Given the description of an element on the screen output the (x, y) to click on. 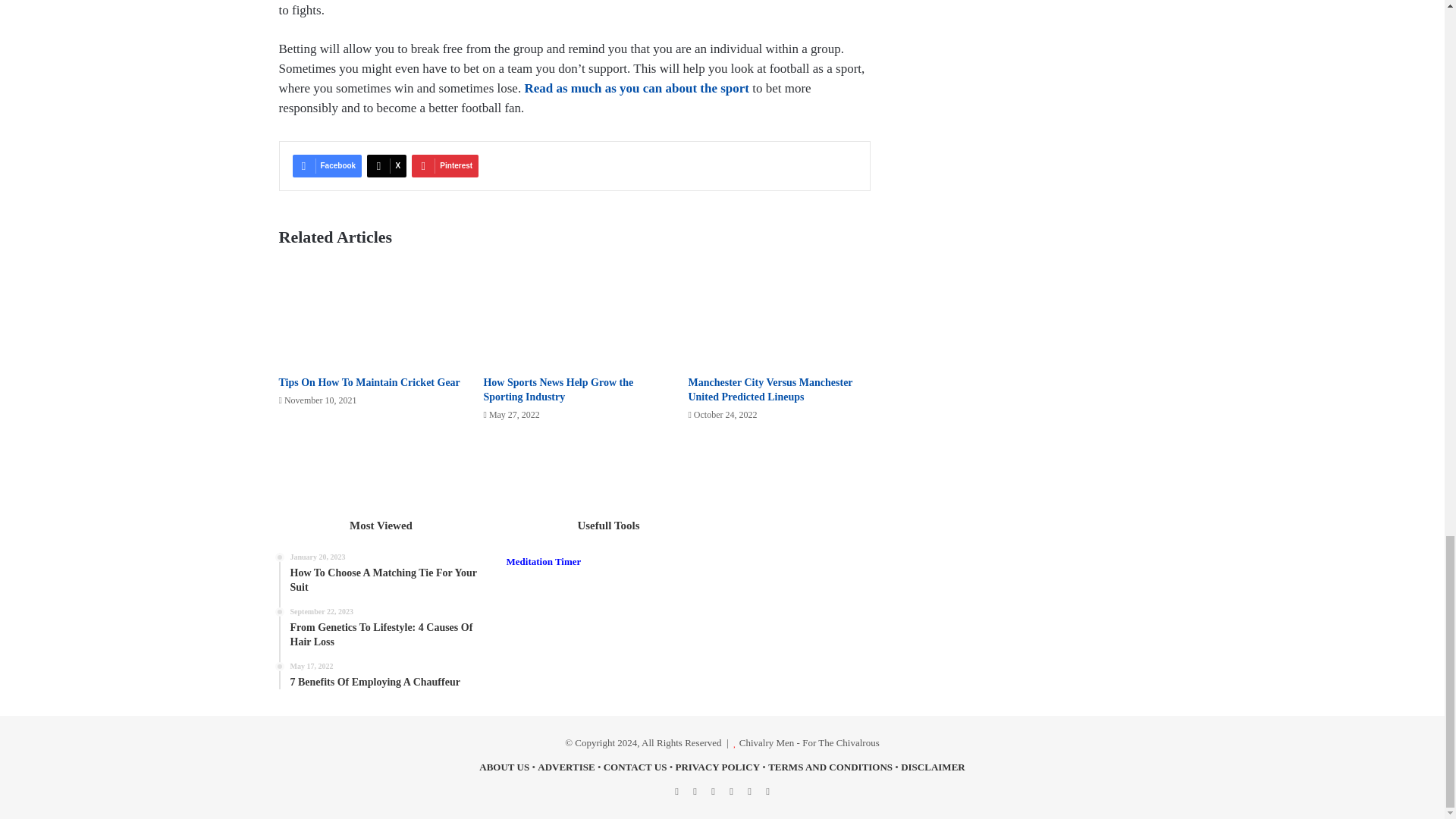
Pinterest (445, 165)
Manchester City Versus Manchester United Predicted Lineups (769, 389)
Facebook (327, 165)
Tips On How To Maintain Cricket Gear (369, 382)
X (386, 165)
Pinterest (445, 165)
How Sports News Help Grow the Sporting Industry (558, 389)
Facebook (327, 165)
Read as much as you can about the sport (636, 88)
X (386, 165)
